Given the description of an element on the screen output the (x, y) to click on. 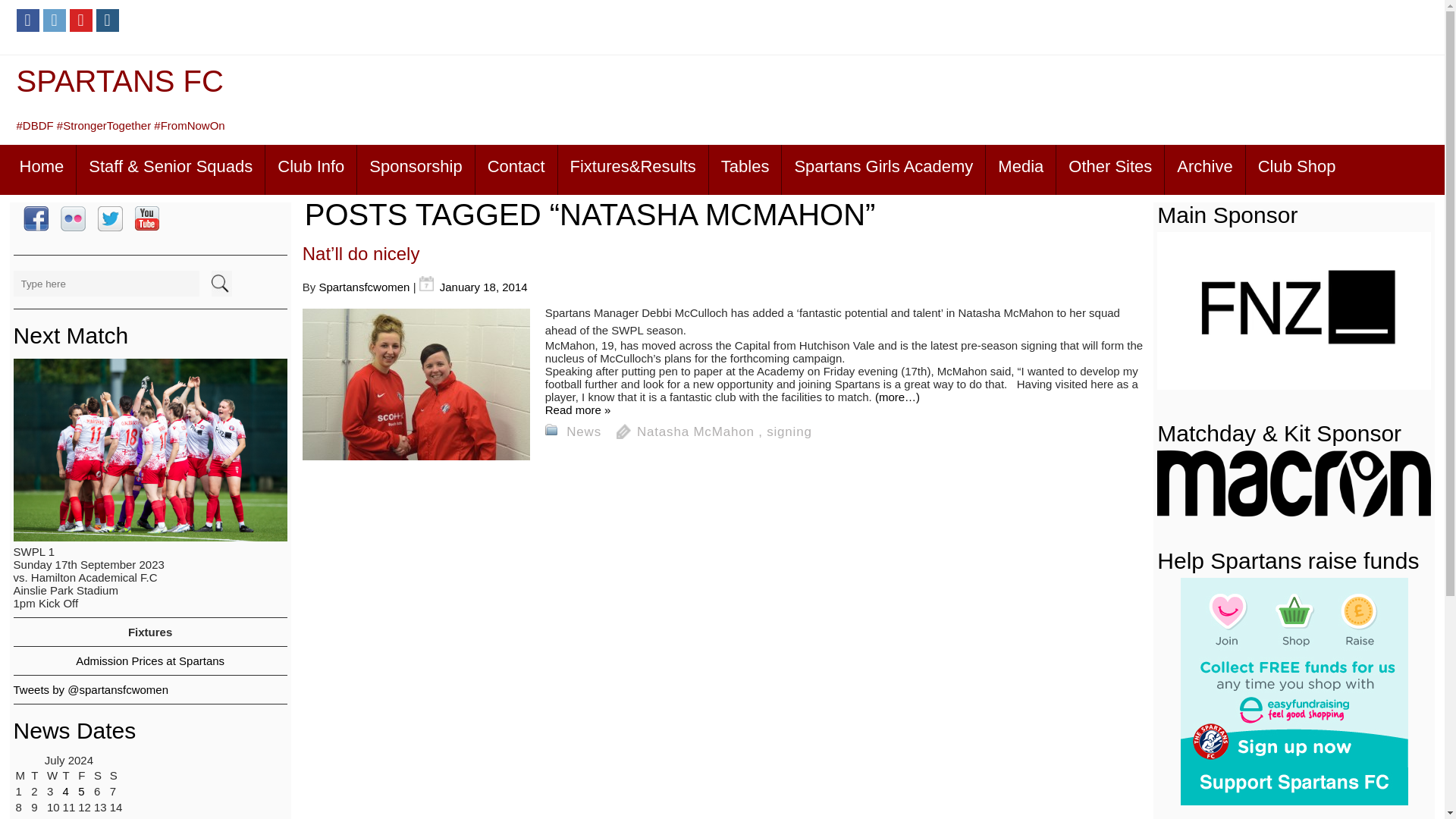
Search (218, 283)
Sponsorship (415, 169)
Club Info (310, 169)
Twitter (54, 20)
Link to our Twitter Page (109, 219)
SPARTANS FC (120, 80)
Admission Prices (149, 660)
Link to our Flickr Page (73, 219)
Link to our Youtube Page (146, 219)
Contact (516, 169)
Facebook (27, 20)
Spartans FC (120, 80)
Youtube (81, 20)
Tuesday (37, 775)
Monday (21, 775)
